Given the description of an element on the screen output the (x, y) to click on. 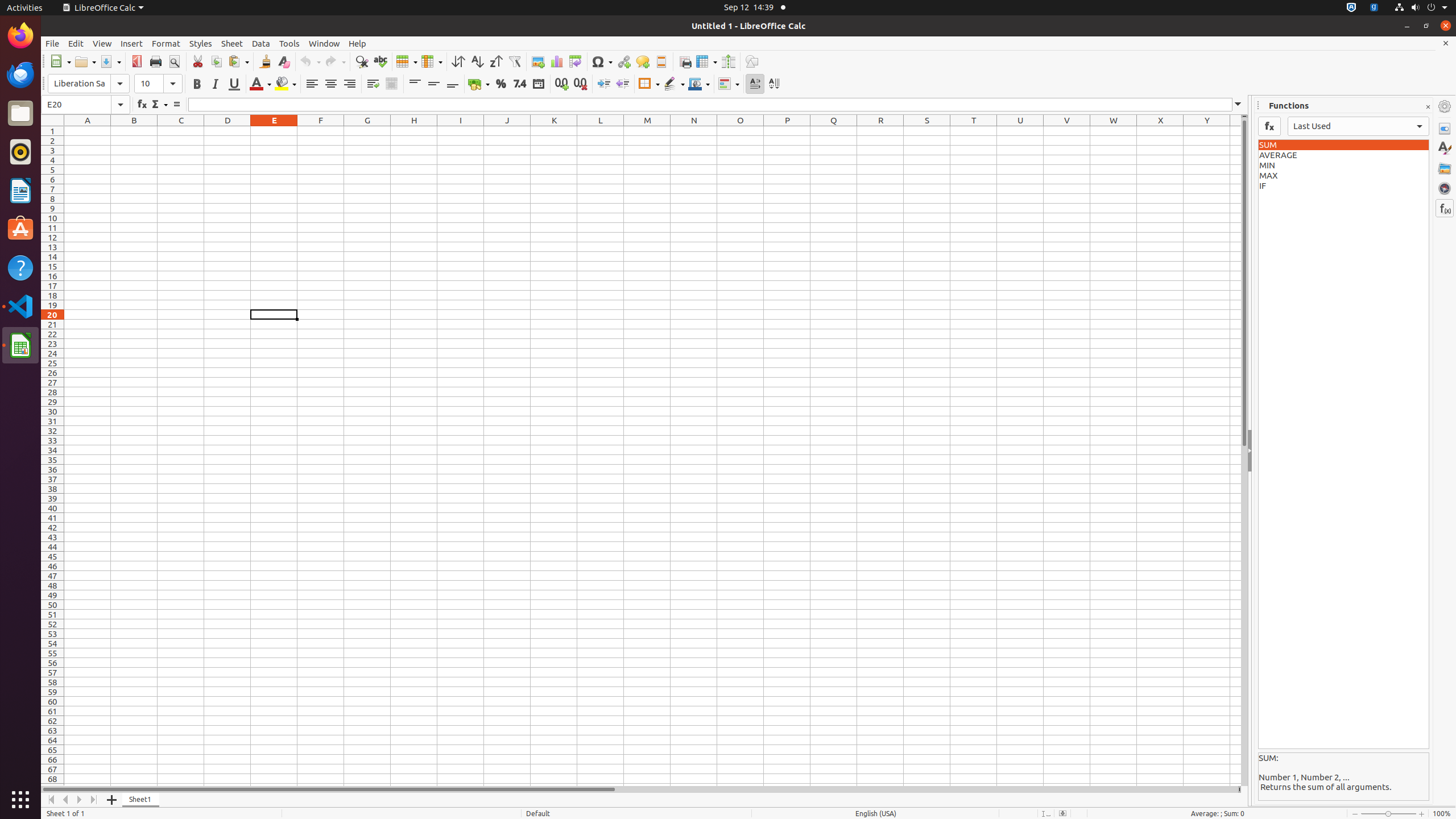
Window Element type: menu (324, 43)
Insert Element type: menu (131, 43)
Clone Element type: push-button (264, 61)
N1 Element type: table-cell (693, 130)
Sheet Sheet1 Element type: table (652, 456)
